Given the description of an element on the screen output the (x, y) to click on. 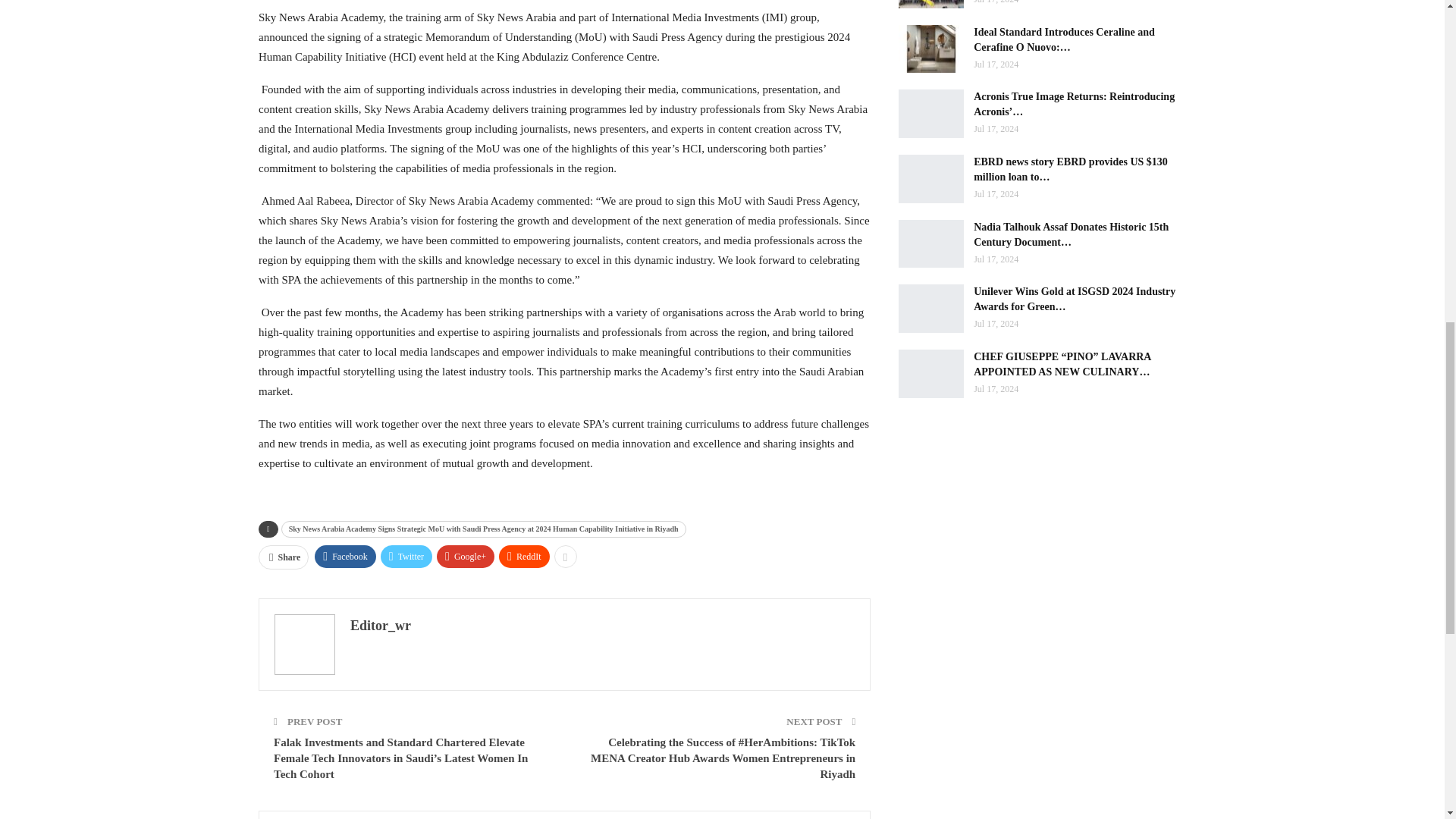
Facebook (344, 556)
